Given the description of an element on the screen output the (x, y) to click on. 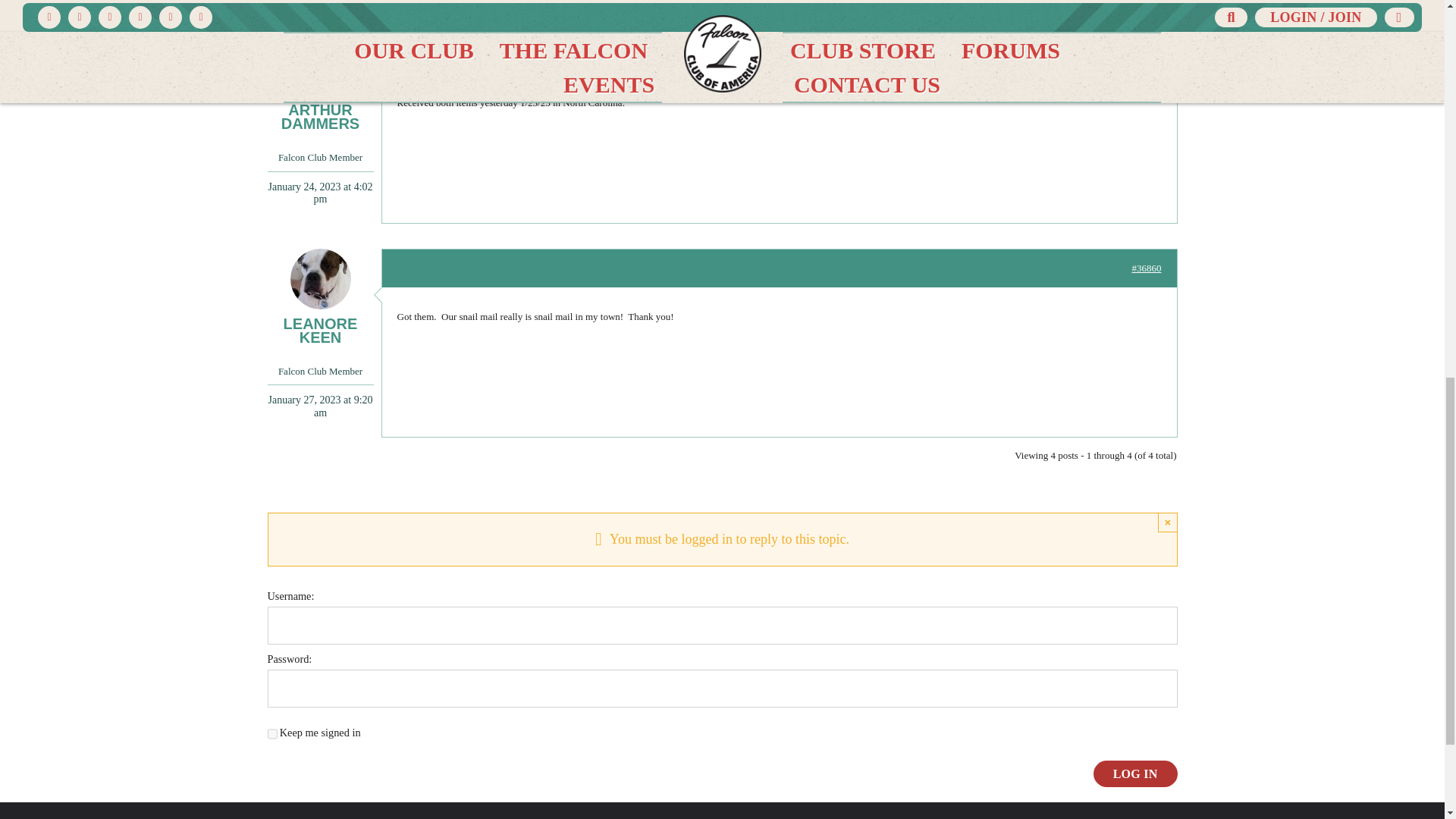
View Leanore Keen's profile (319, 295)
View Arthur Dammers's profile (319, 82)
